Given the description of an element on the screen output the (x, y) to click on. 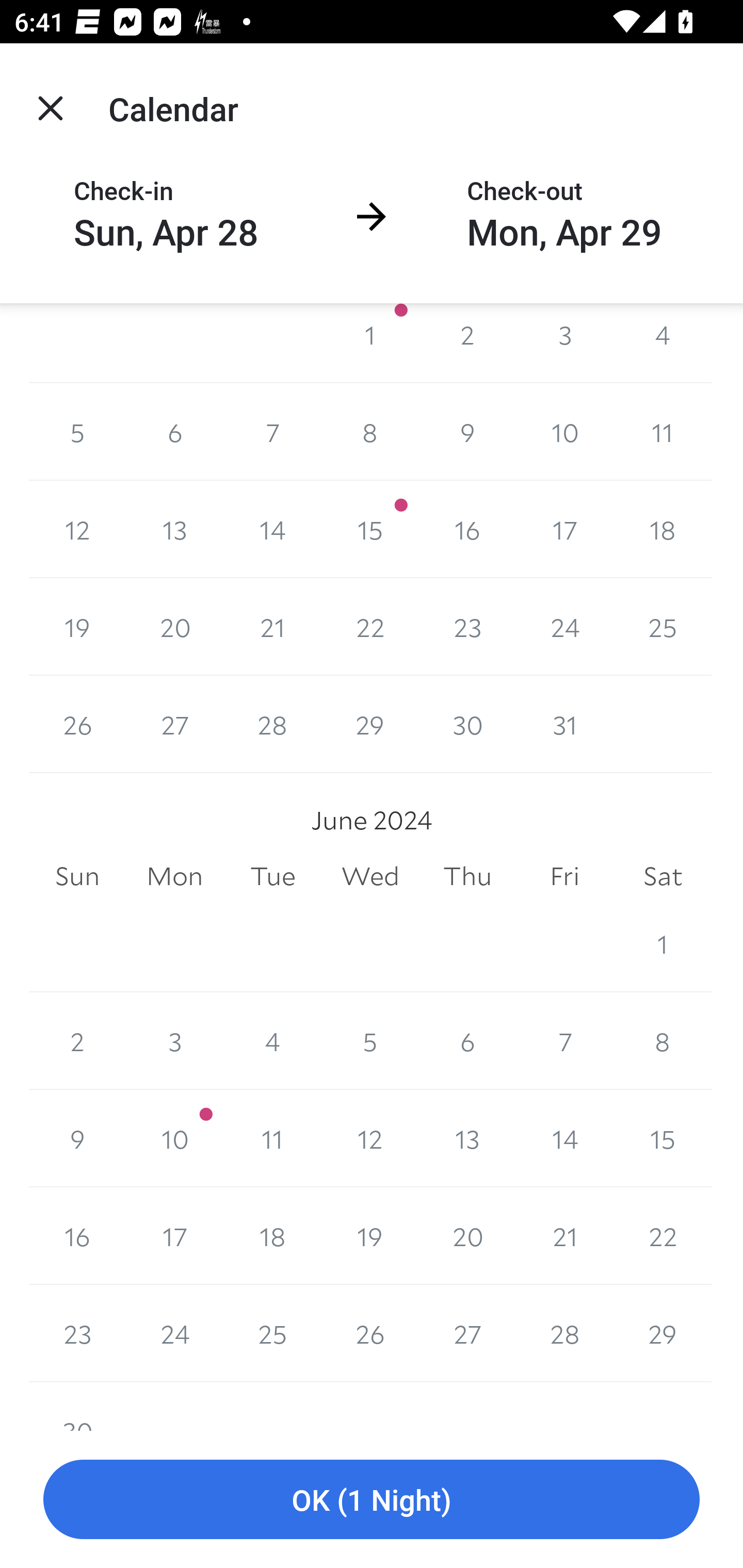
1 1 May 2024 (370, 342)
2 2 May 2024 (467, 342)
3 3 May 2024 (564, 342)
4 4 May 2024 (662, 342)
5 5 May 2024 (77, 431)
6 6 May 2024 (174, 431)
7 7 May 2024 (272, 431)
8 8 May 2024 (370, 431)
9 9 May 2024 (467, 431)
10 10 May 2024 (564, 431)
11 11 May 2024 (662, 431)
12 12 May 2024 (77, 529)
13 13 May 2024 (174, 529)
14 14 May 2024 (272, 529)
15 15 May 2024 (370, 529)
16 16 May 2024 (467, 529)
17 17 May 2024 (564, 529)
18 18 May 2024 (662, 529)
19 19 May 2024 (77, 626)
20 20 May 2024 (174, 626)
21 21 May 2024 (272, 626)
22 22 May 2024 (370, 626)
23 23 May 2024 (467, 626)
24 24 May 2024 (564, 626)
25 25 May 2024 (662, 626)
26 26 May 2024 (77, 724)
27 27 May 2024 (174, 724)
28 28 May 2024 (272, 724)
29 29 May 2024 (370, 724)
30 30 May 2024 (467, 724)
31 31 May 2024 (564, 724)
Sun (77, 876)
Mon (174, 876)
Tue (272, 876)
Wed (370, 876)
Thu (467, 876)
Fri (564, 876)
Sat (662, 876)
1 1 June 2024 (662, 943)
2 2 June 2024 (77, 1040)
3 3 June 2024 (174, 1040)
4 4 June 2024 (272, 1040)
5 5 June 2024 (370, 1040)
6 6 June 2024 (467, 1040)
7 7 June 2024 (564, 1040)
8 8 June 2024 (662, 1040)
9 9 June 2024 (77, 1137)
10 10 June 2024 (174, 1137)
11 11 June 2024 (272, 1137)
